Given the description of an element on the screen output the (x, y) to click on. 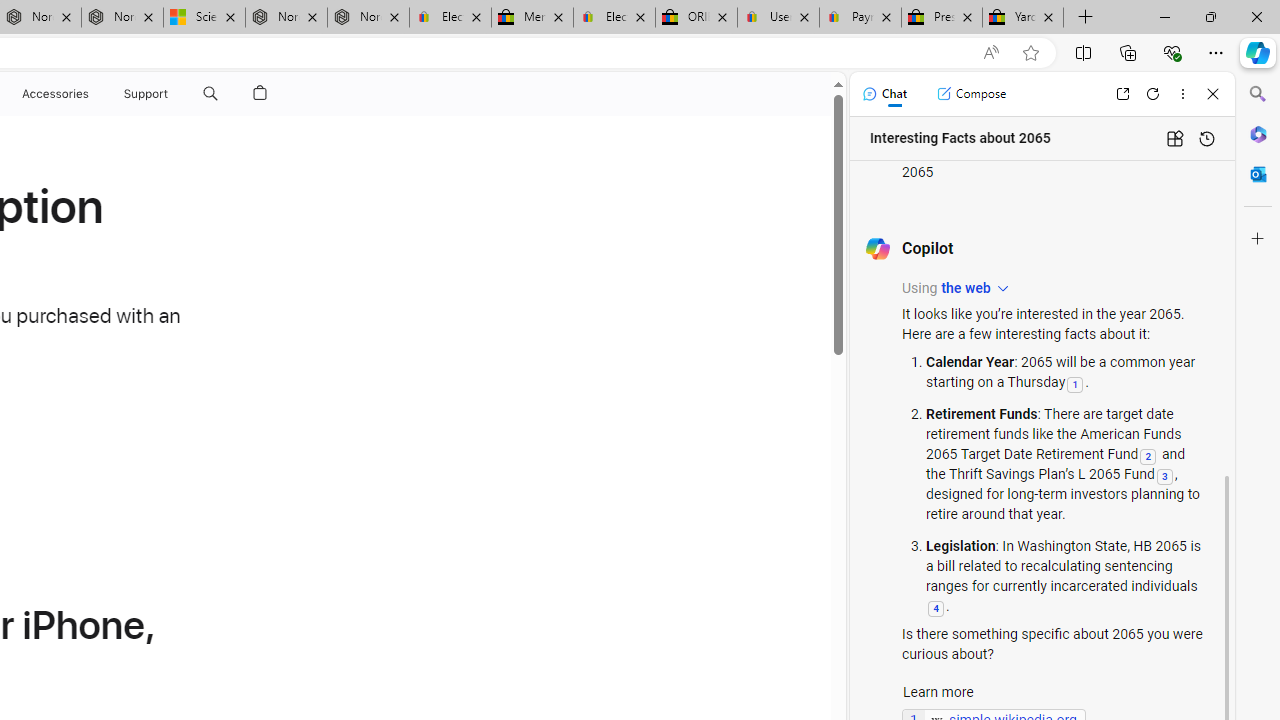
Accessories (54, 93)
Search Support (210, 93)
Support menu (172, 93)
